Given the description of an element on the screen output the (x, y) to click on. 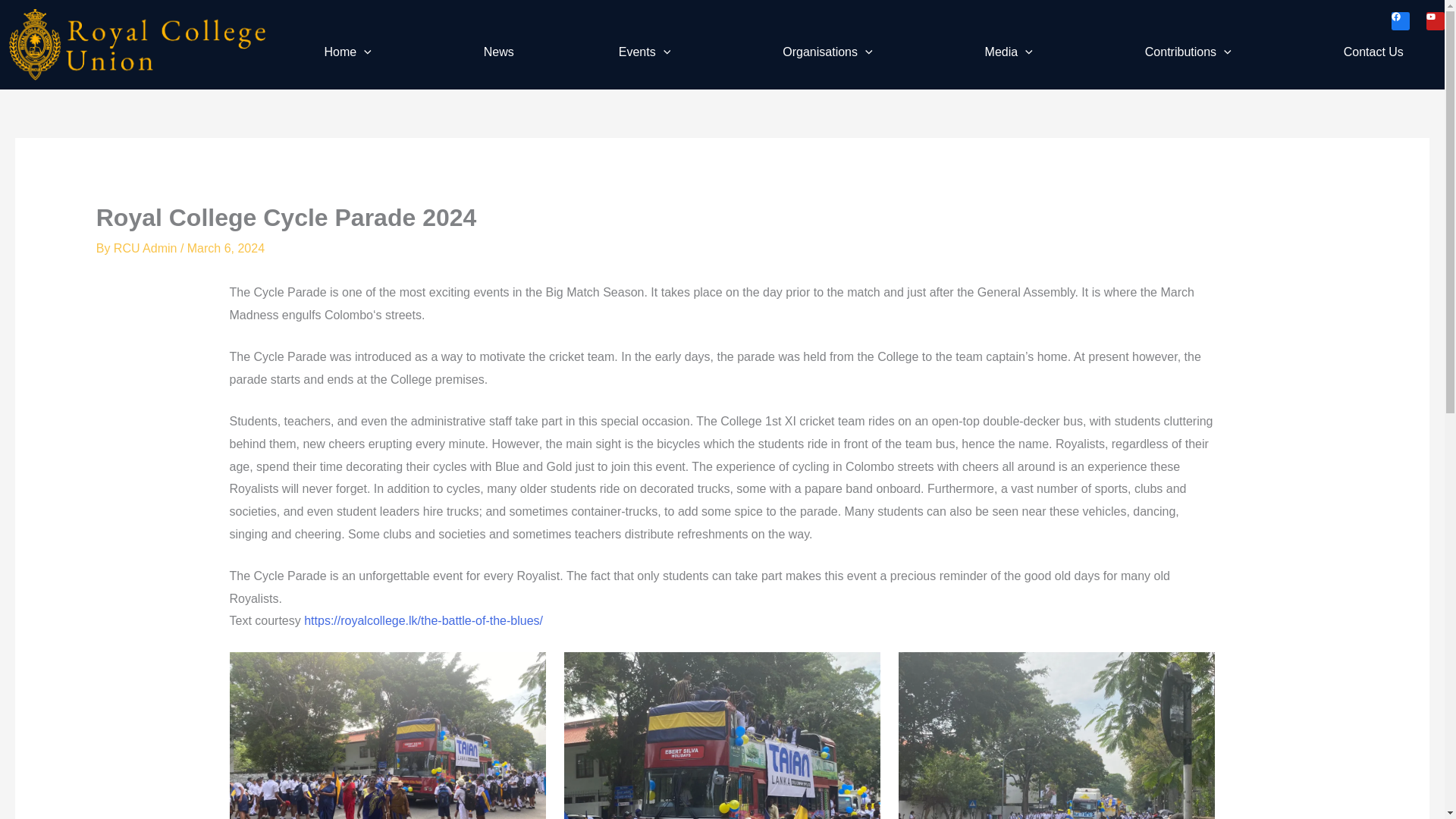
News (498, 52)
Youtube (1435, 21)
Facebook (1400, 21)
Organisations (830, 52)
Home (350, 52)
View all posts by RCU Admin (146, 247)
Events (648, 52)
